Given the description of an element on the screen output the (x, y) to click on. 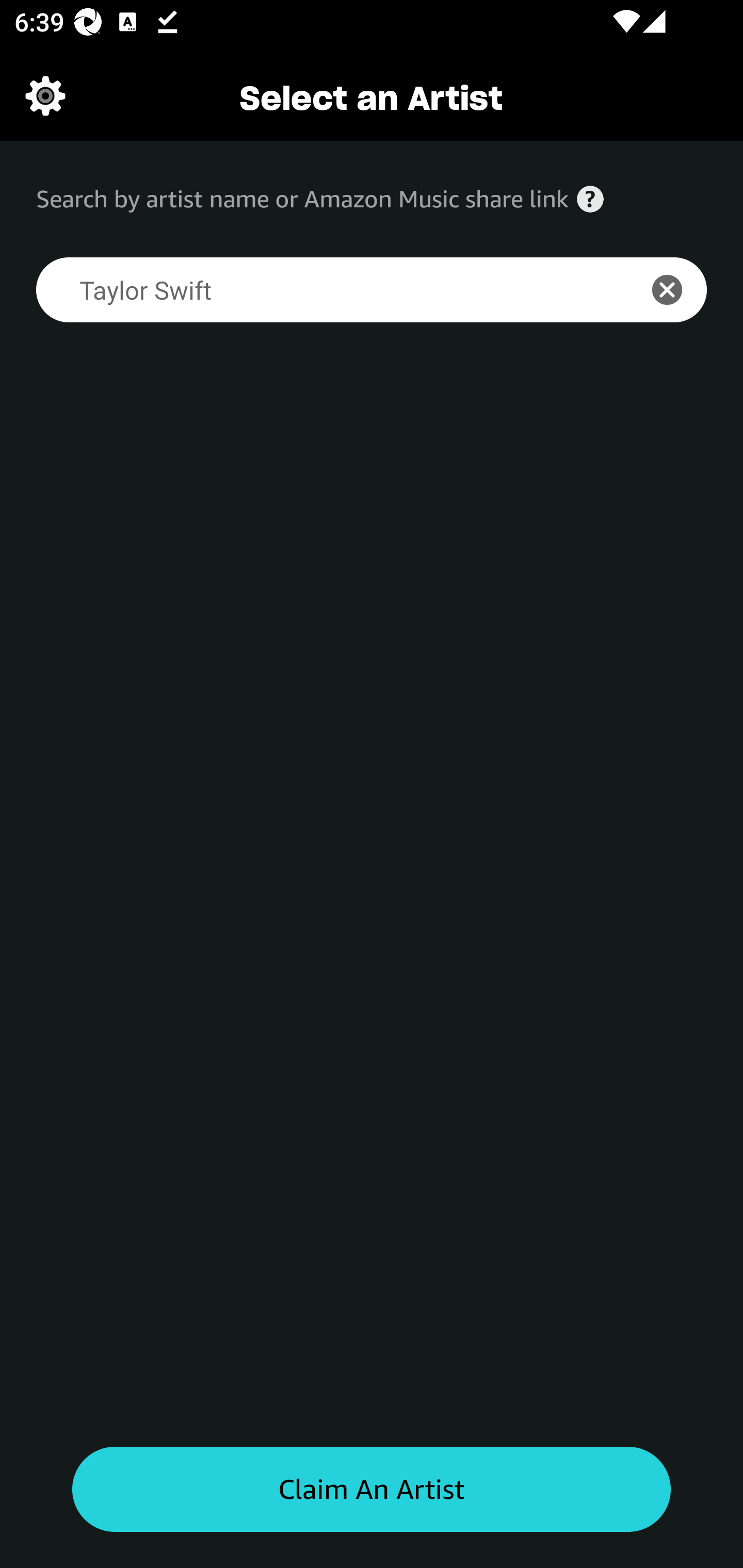
Help  icon (589, 199)
Taylor Swift Search for an artist search bar (324, 290)
 icon (677, 290)
Claim an artist button Claim An Artist (371, 1489)
